Given the description of an element on the screen output the (x, y) to click on. 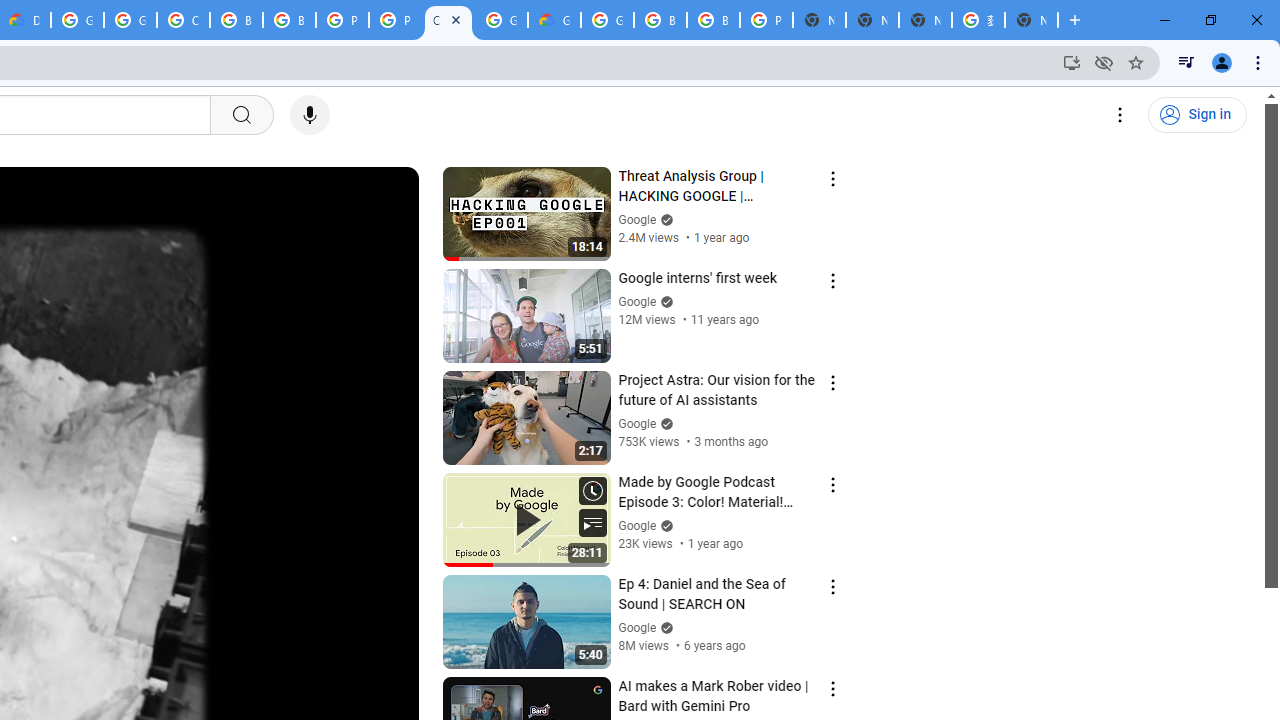
New Tab (819, 20)
Google Cloud Estimate Summary (554, 20)
Install YouTube (1071, 62)
New Tab (1031, 20)
Browse Chrome as a guest - Computer - Google Chrome Help (660, 20)
Google Cloud Platform (607, 20)
